Given the description of an element on the screen output the (x, y) to click on. 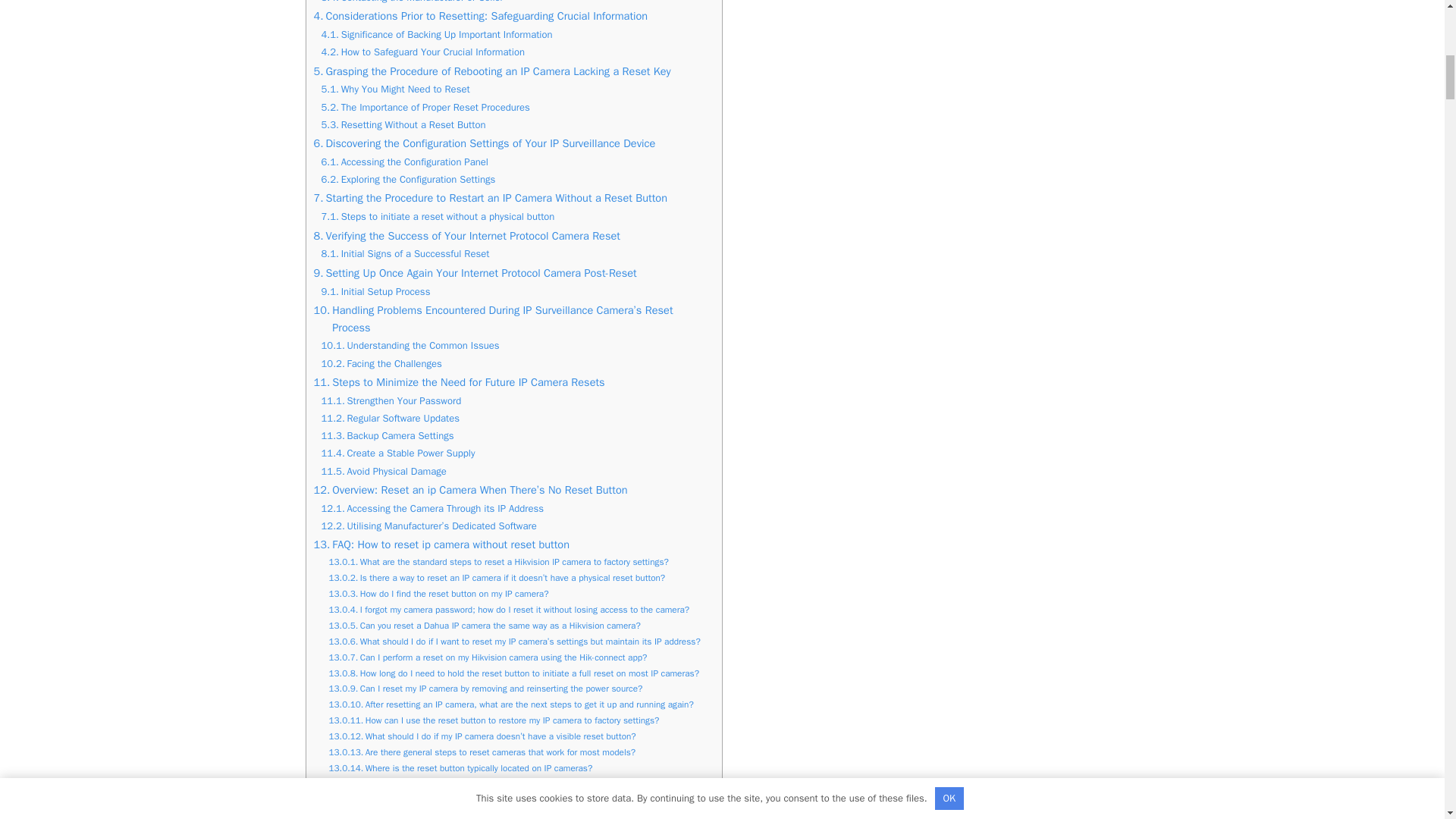
Verifying the Success of Your Internet Protocol Camera Reset (467, 235)
How to Safeguard Your Crucial Information (423, 52)
The Importance of Proper Reset Procedures (425, 107)
Initial Setup Process (375, 292)
Significance of Backing Up Important Information (437, 35)
Significance of Backing Up Important Information (437, 35)
Contacting the Manufacturer or Seller (412, 2)
Steps to initiate a reset without a physical button (437, 217)
